Given the description of an element on the screen output the (x, y) to click on. 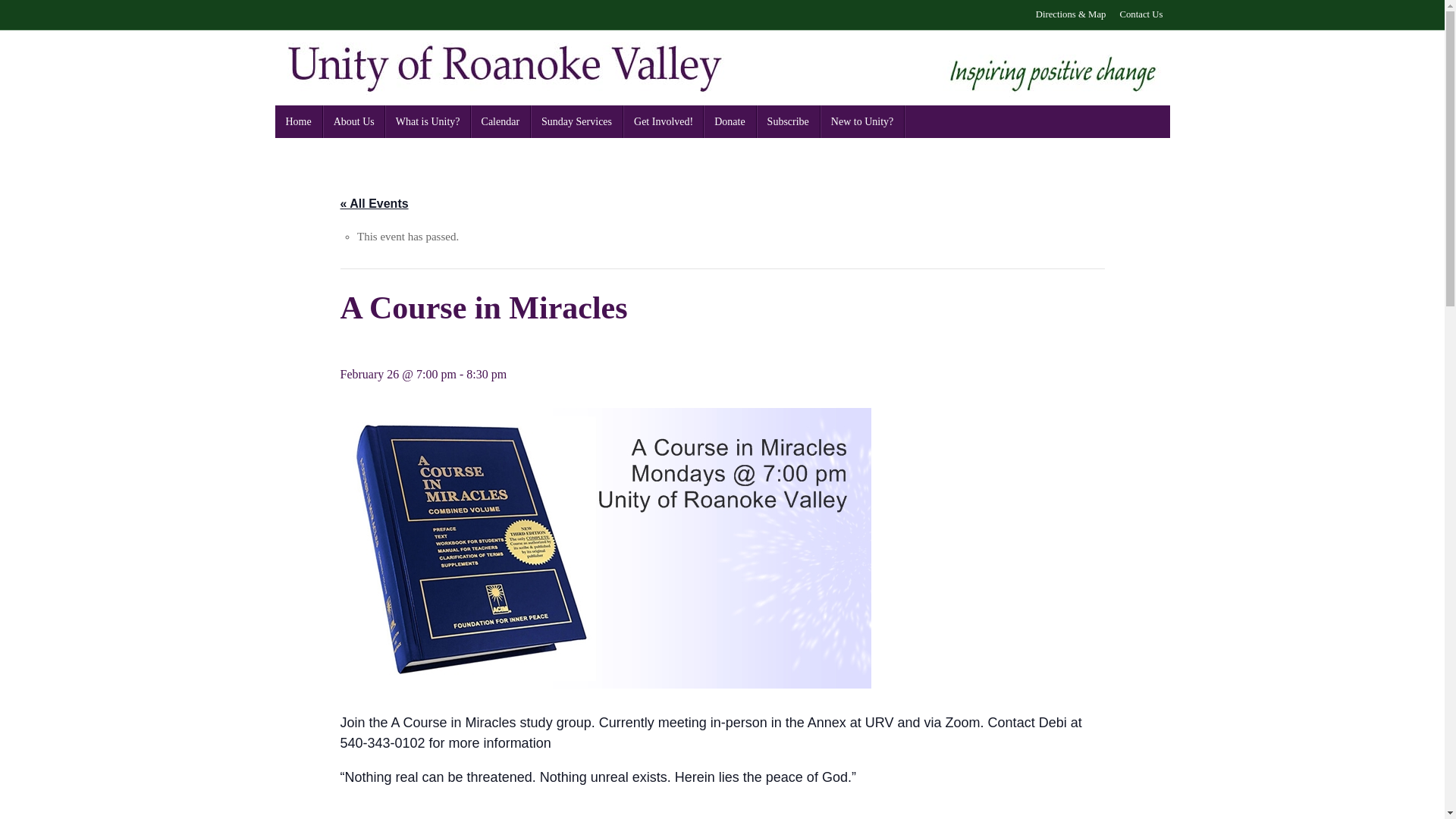
Donate (729, 121)
New to Unity? (862, 121)
Sunday Services (577, 121)
About Us (354, 121)
Get Involved! (663, 121)
Calendar (500, 121)
Contact Us (1141, 15)
Subscribe (789, 121)
What is Unity? (427, 121)
